Given the description of an element on the screen output the (x, y) to click on. 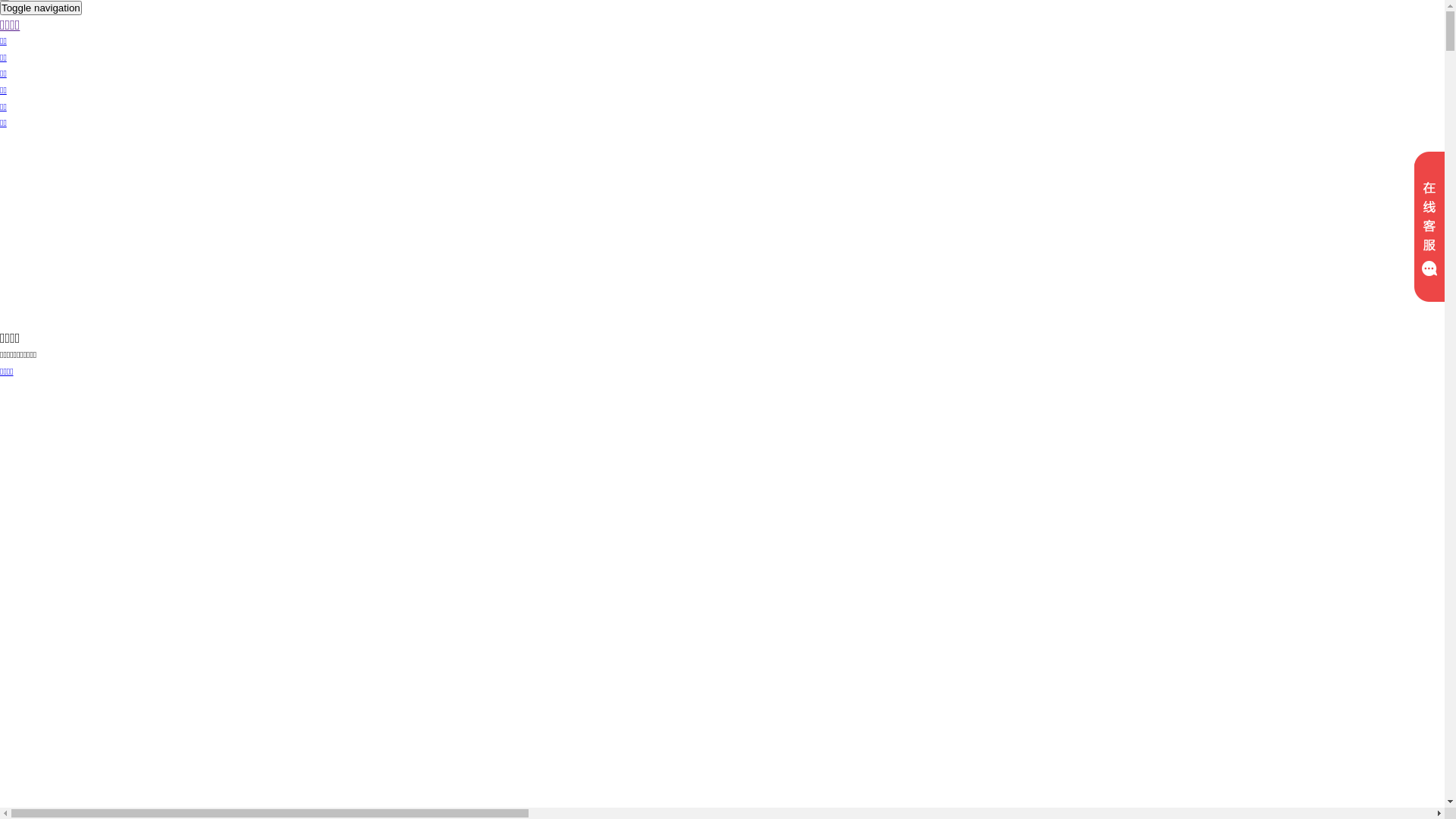
Toggle navigation Element type: text (40, 7)
